Given the description of an element on the screen output the (x, y) to click on. 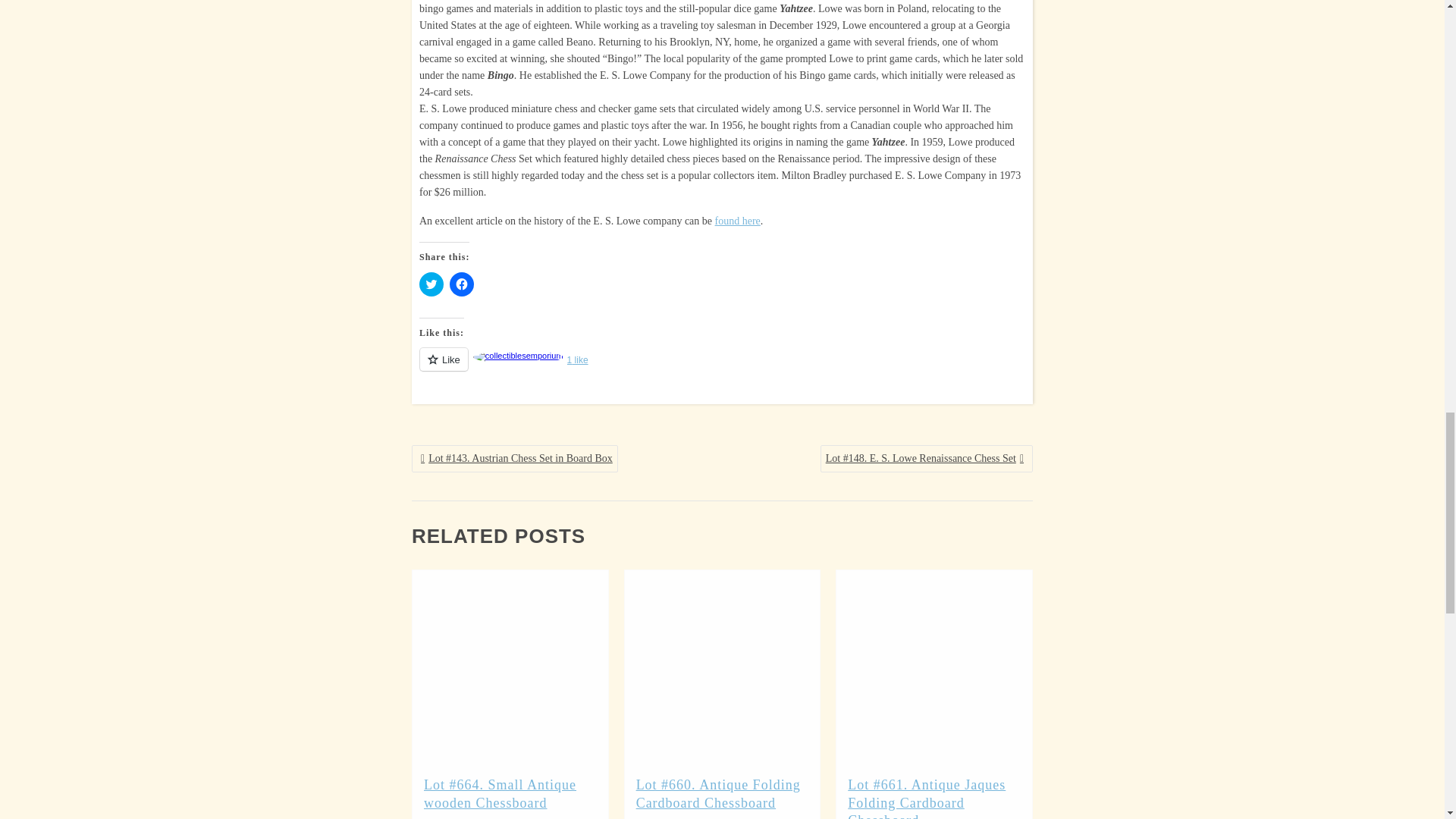
Like or Reblog (722, 368)
Click to share on Facebook (461, 283)
Click to share on Twitter (431, 283)
